Given the description of an element on the screen output the (x, y) to click on. 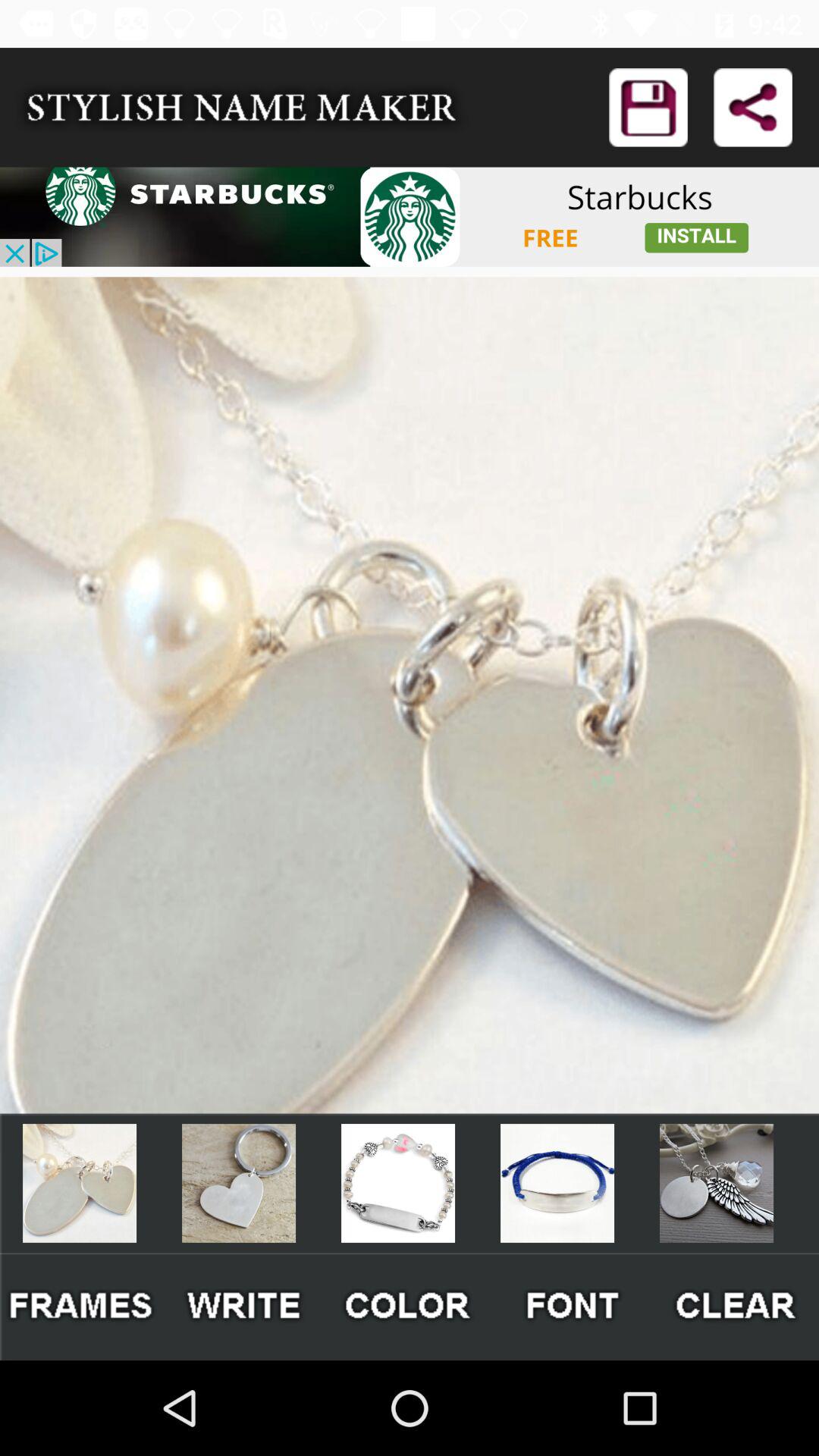
font (573, 1306)
